Given the description of an element on the screen output the (x, y) to click on. 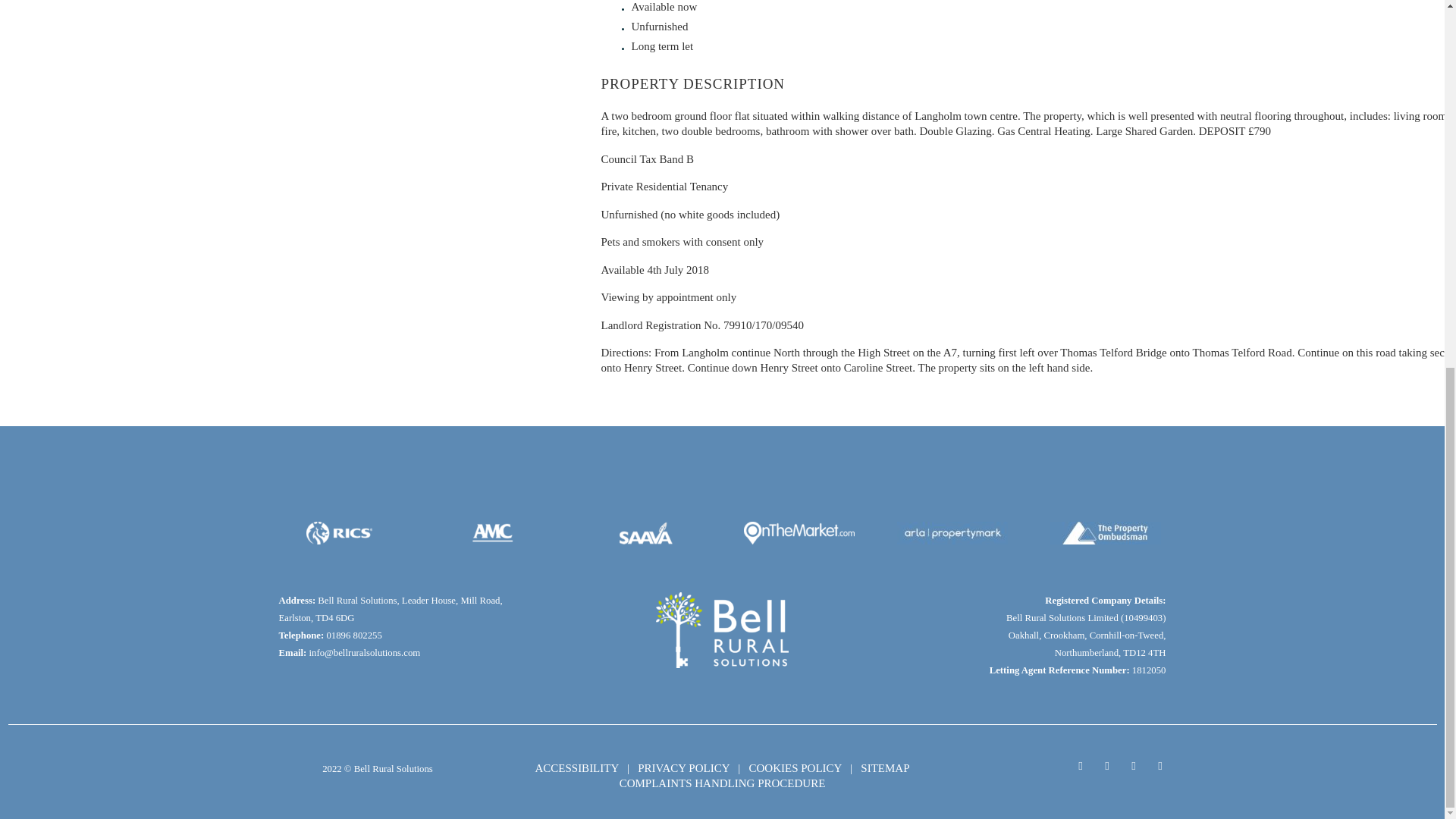
TPO White (1104, 532)
Propertymark White (951, 532)
